Given the description of an element on the screen output the (x, y) to click on. 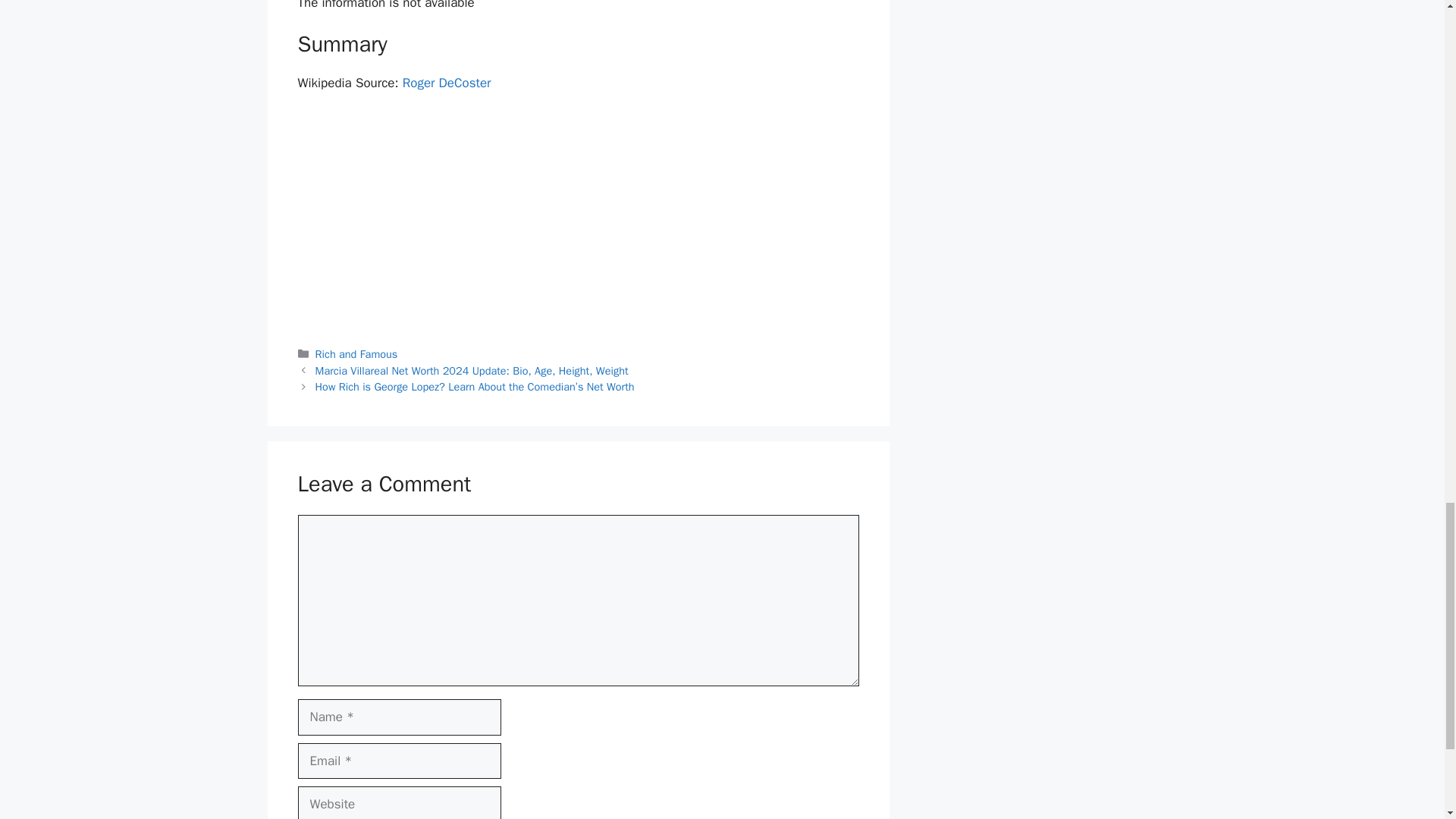
Advertisement (578, 218)
Rich and Famous (356, 354)
Roger DeCoster (447, 82)
